Given the description of an element on the screen output the (x, y) to click on. 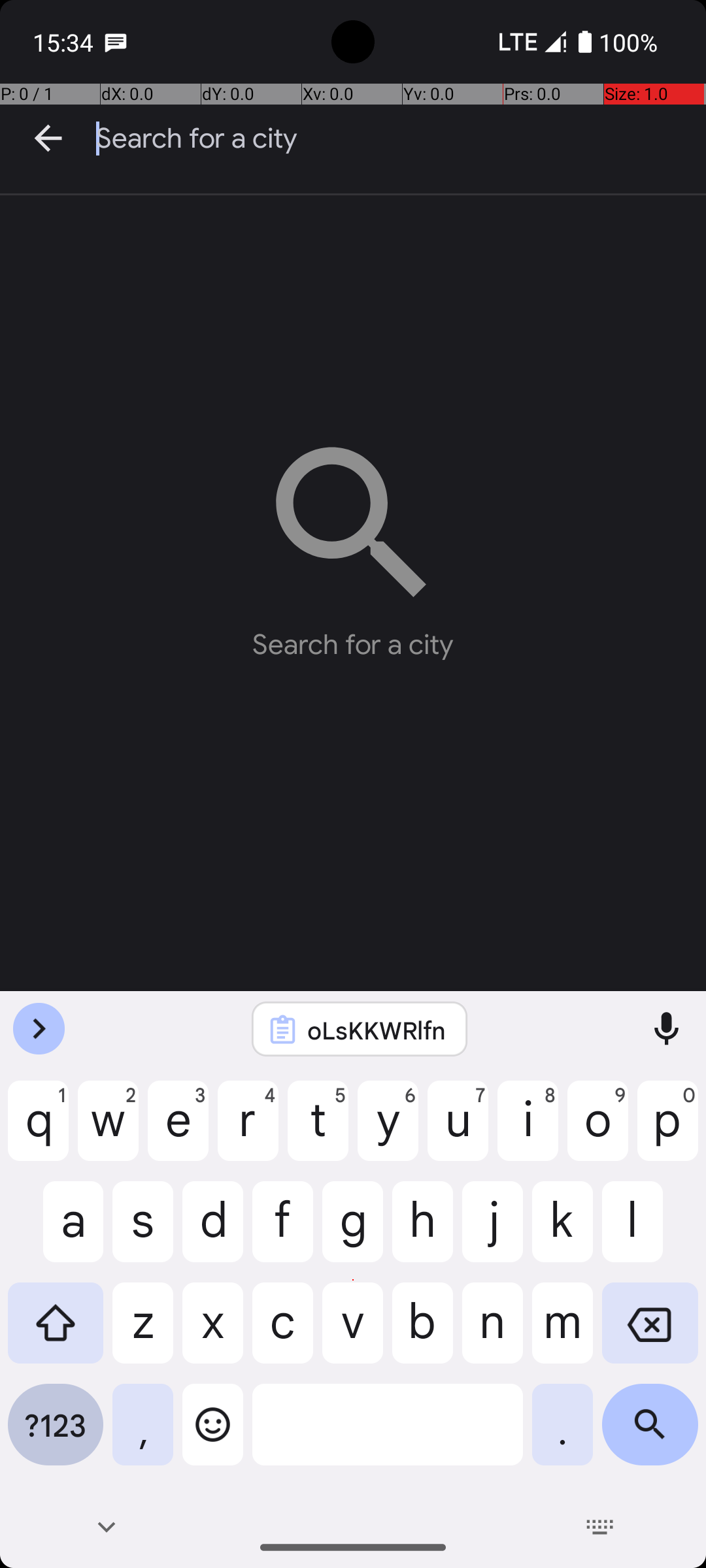
Search for a city Element type: android.widget.EditText (401, 138)
oLsKKWRlfn Element type: android.widget.TextView (376, 1029)
